Given the description of an element on the screen output the (x, y) to click on. 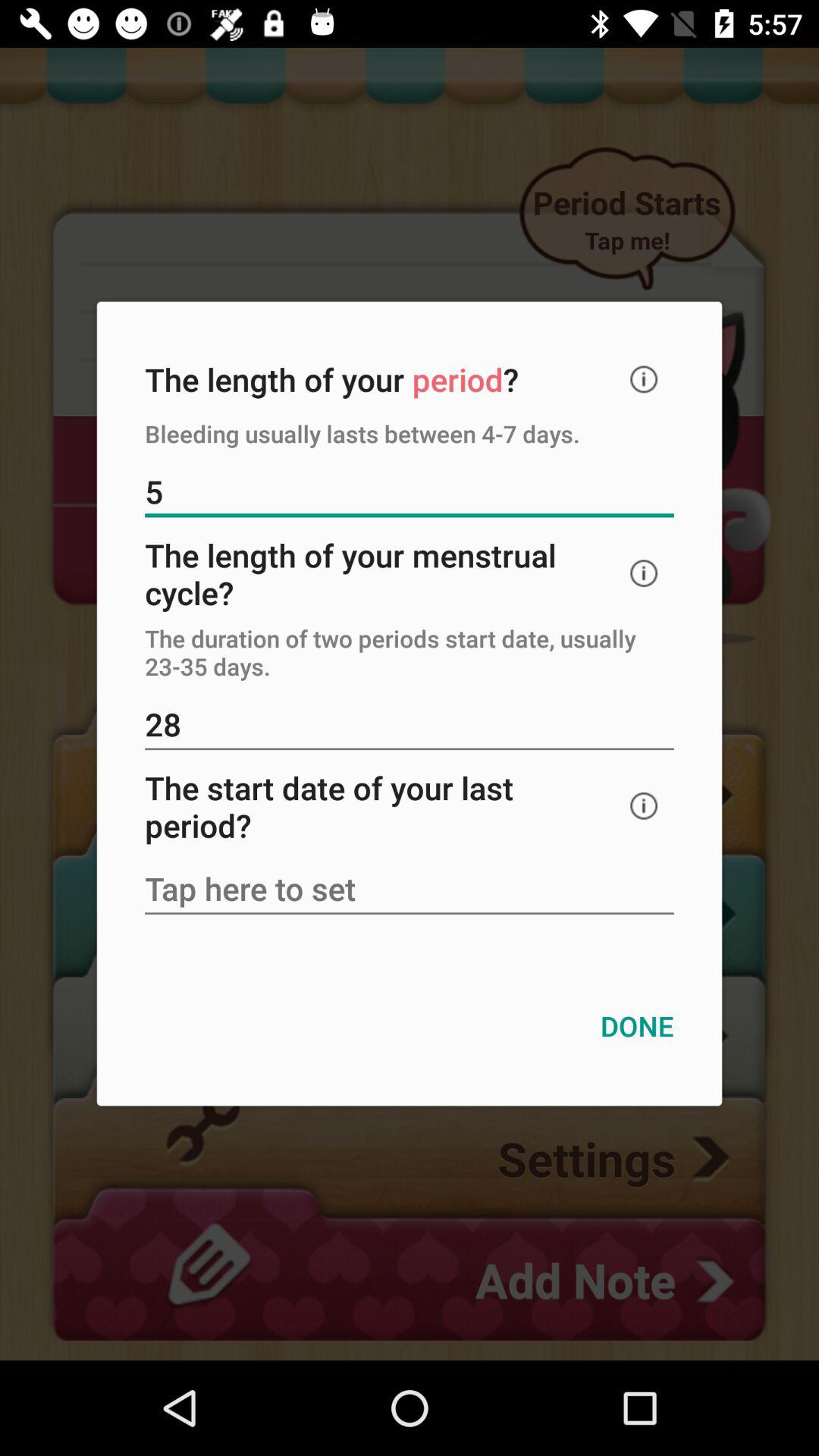
turn off item below bleeding usually lasts icon (409, 493)
